Given the description of an element on the screen output the (x, y) to click on. 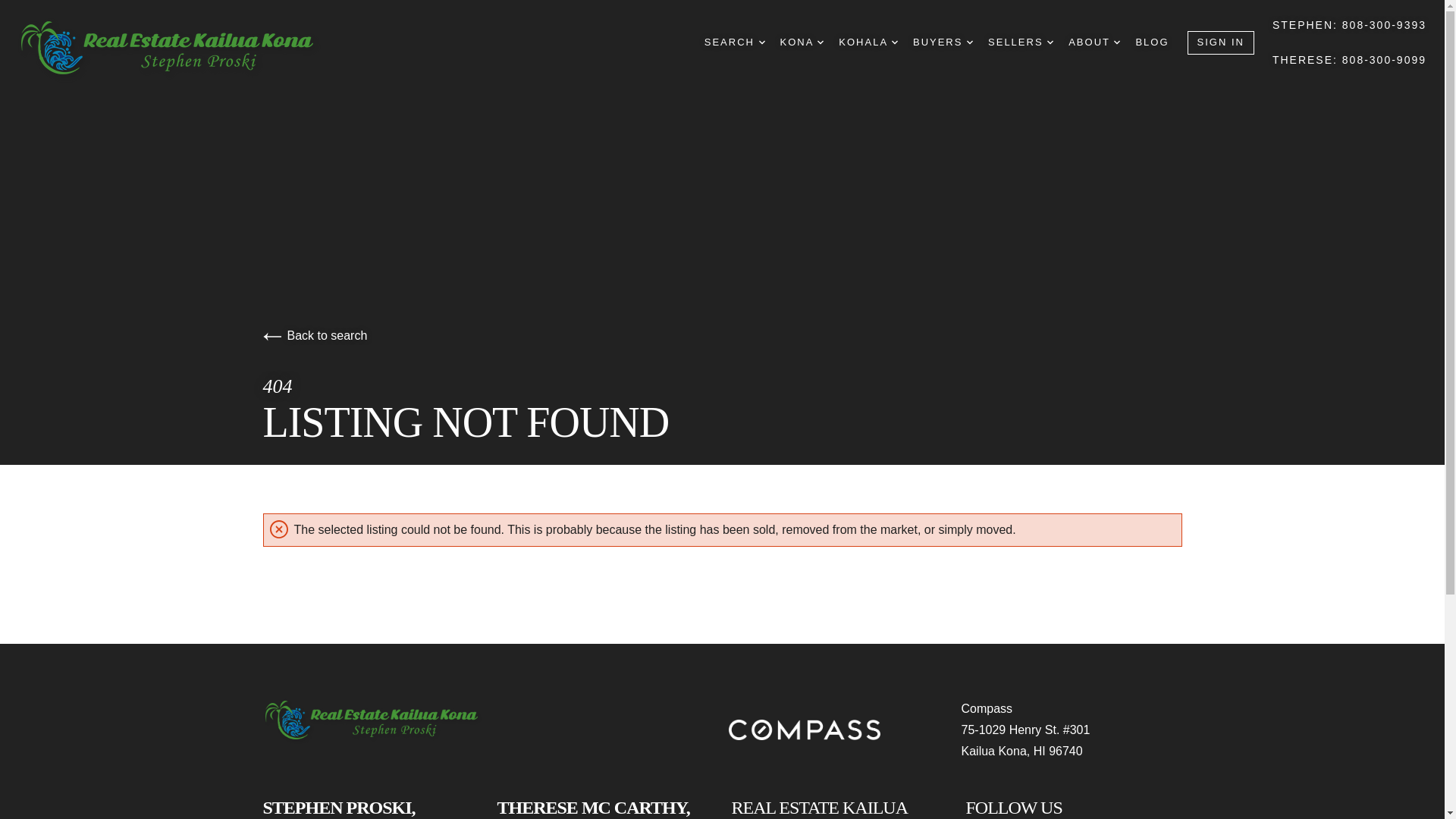
DROPDOWN ARROW (894, 42)
DROPDOWN ARROW (1049, 42)
KONA DROPDOWN ARROW (802, 42)
DROPDOWN ARROW (969, 42)
DROPDOWN ARROW (1116, 42)
DROPDOWN ARROW (820, 42)
KOHALA DROPDOWN ARROW (868, 42)
DROPDOWN ARROW (761, 42)
BUYERS DROPDOWN ARROW (942, 42)
SEARCH DROPDOWN ARROW (734, 42)
